Given the description of an element on the screen output the (x, y) to click on. 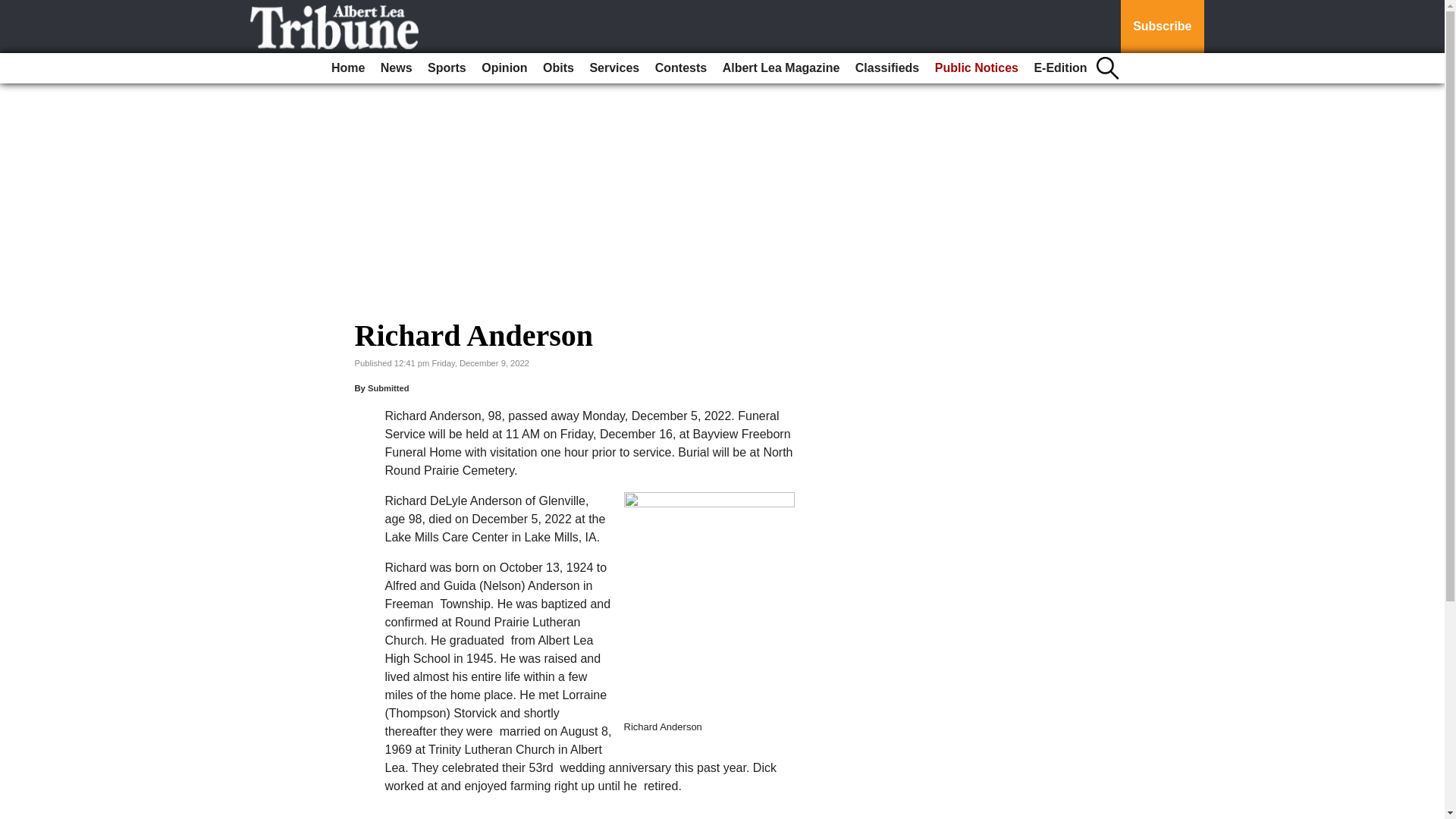
Home (347, 68)
Services (614, 68)
Subscribe (1162, 26)
Opinion (504, 68)
News (396, 68)
Obits (558, 68)
Sports (446, 68)
